Given the description of an element on the screen output the (x, y) to click on. 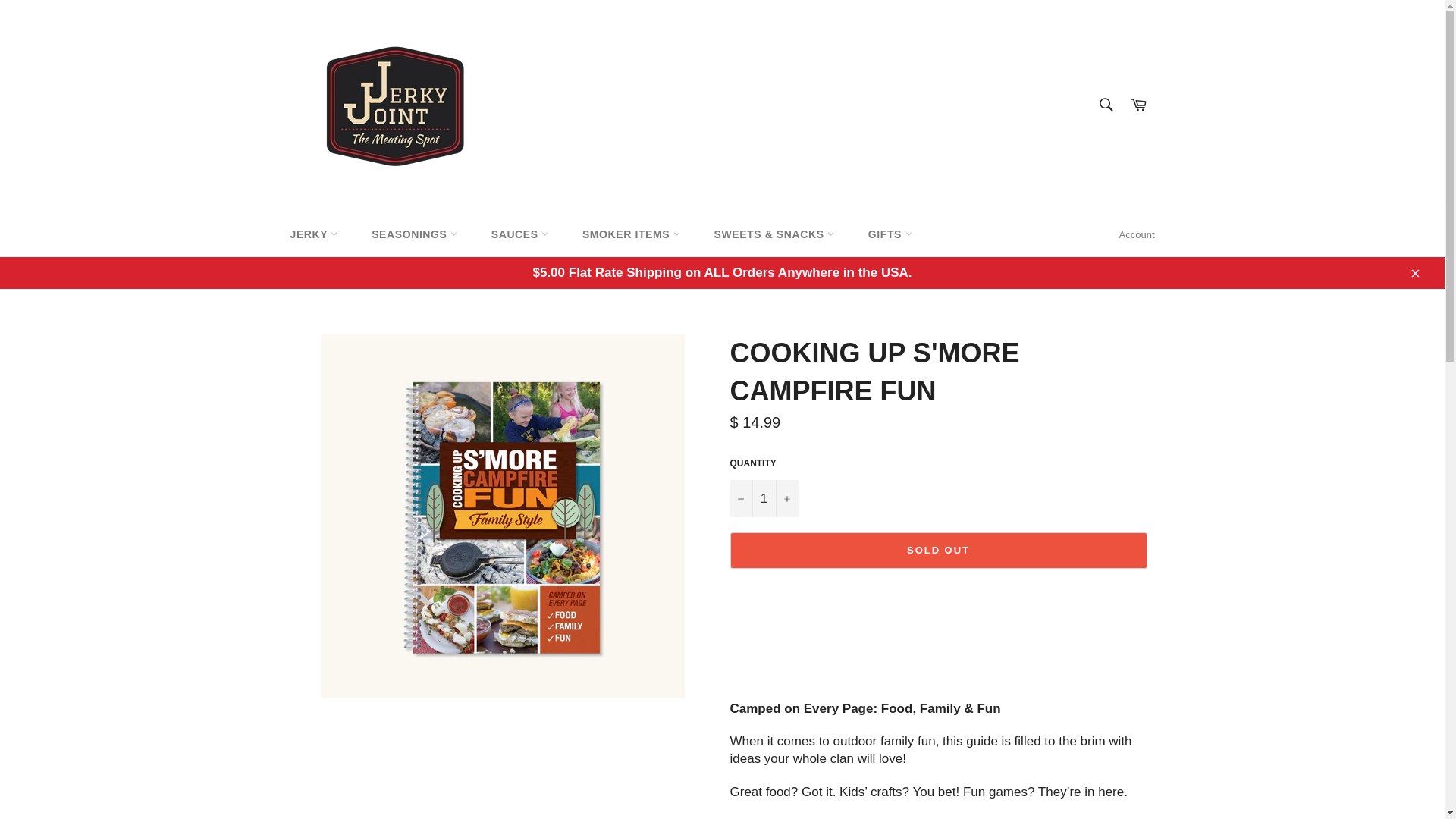
1 (763, 497)
